Given the description of an element on the screen output the (x, y) to click on. 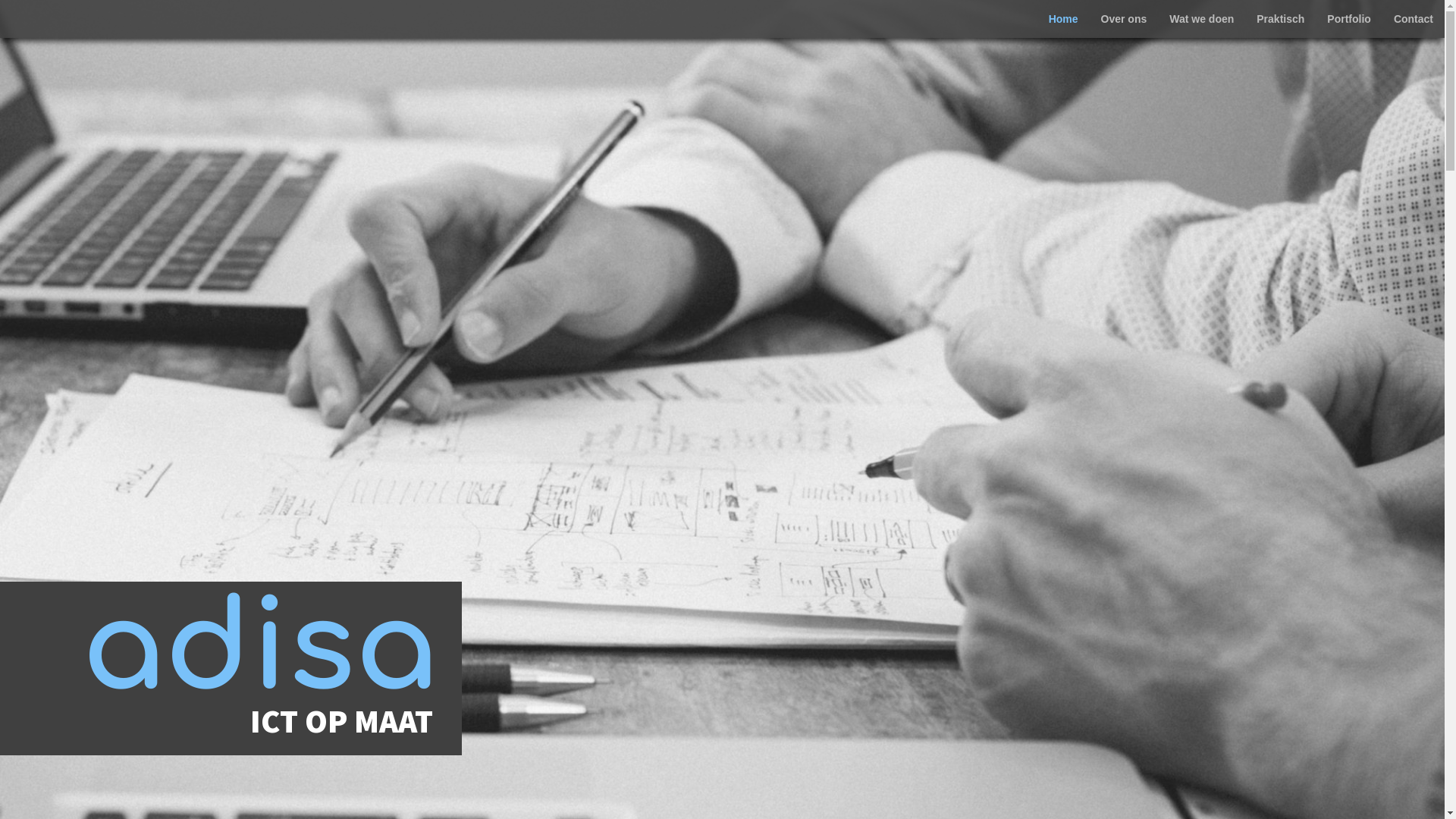
Home Element type: text (1063, 18)
Portfolio Element type: text (1348, 18)
Wat we doen Element type: text (1201, 18)
Praktisch Element type: text (1280, 18)
Contact Element type: text (1413, 18)
Over ons Element type: text (1123, 18)
